Given the description of an element on the screen output the (x, y) to click on. 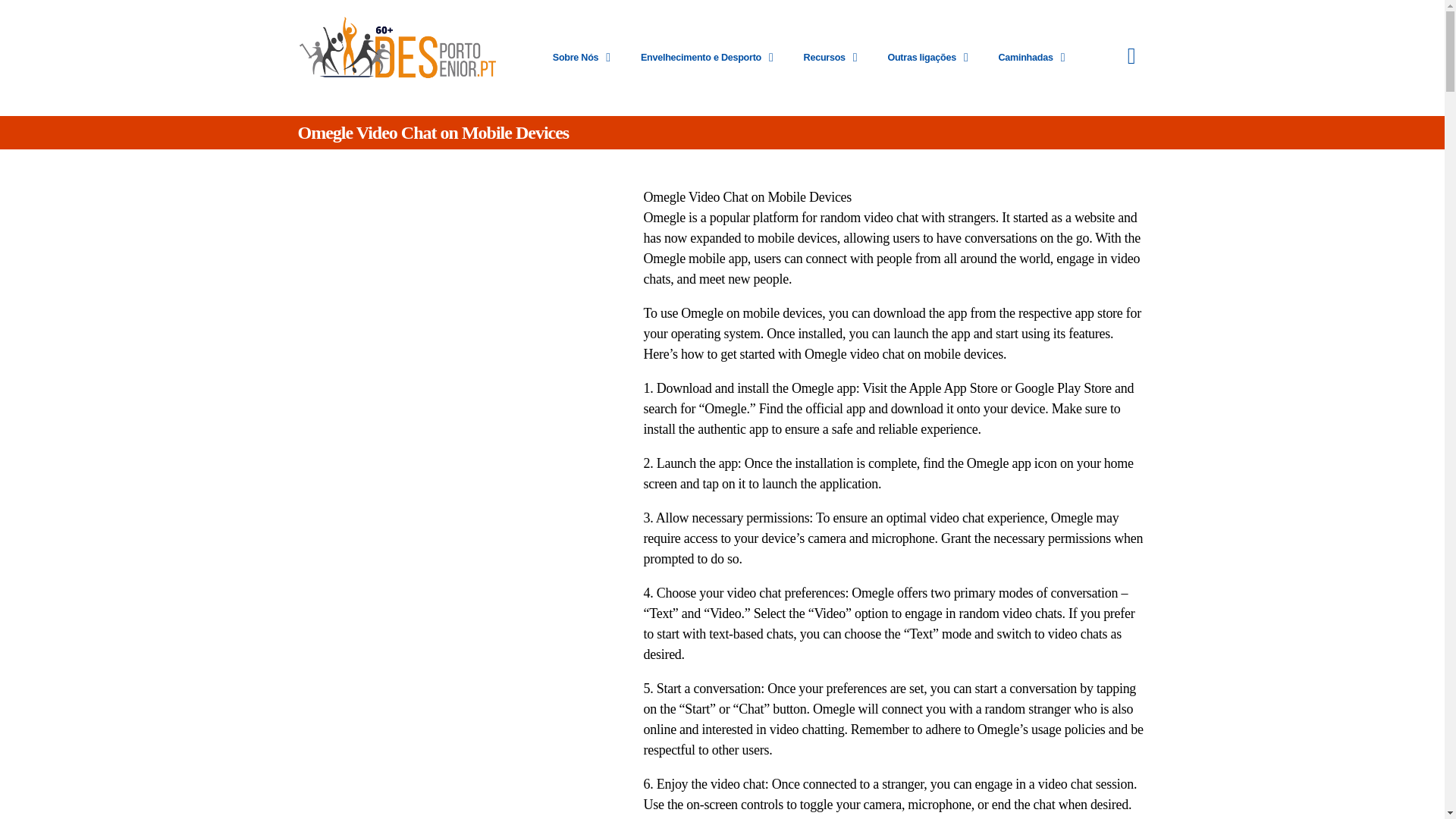
Caminhadas (1031, 57)
Envelhecimento e Desporto (707, 57)
Recursos (830, 57)
